Given the description of an element on the screen output the (x, y) to click on. 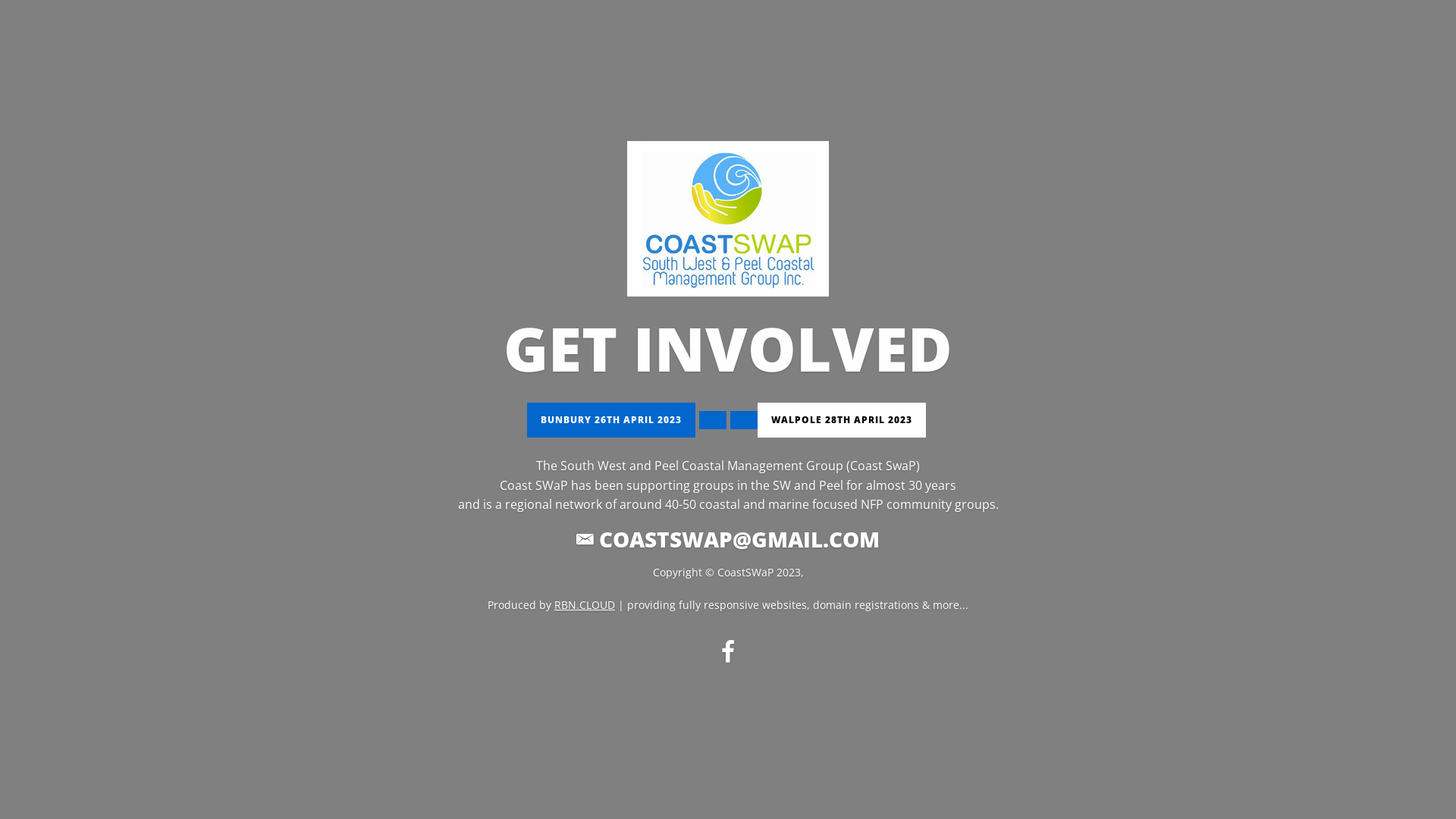
WALPOLE 28TH APRIL 2023 Element type: text (840, 419)
BUNBURY 26TH APRIL 2023 Element type: text (610, 419)
RBN.CLOUD Element type: text (584, 604)
